Given the description of an element on the screen output the (x, y) to click on. 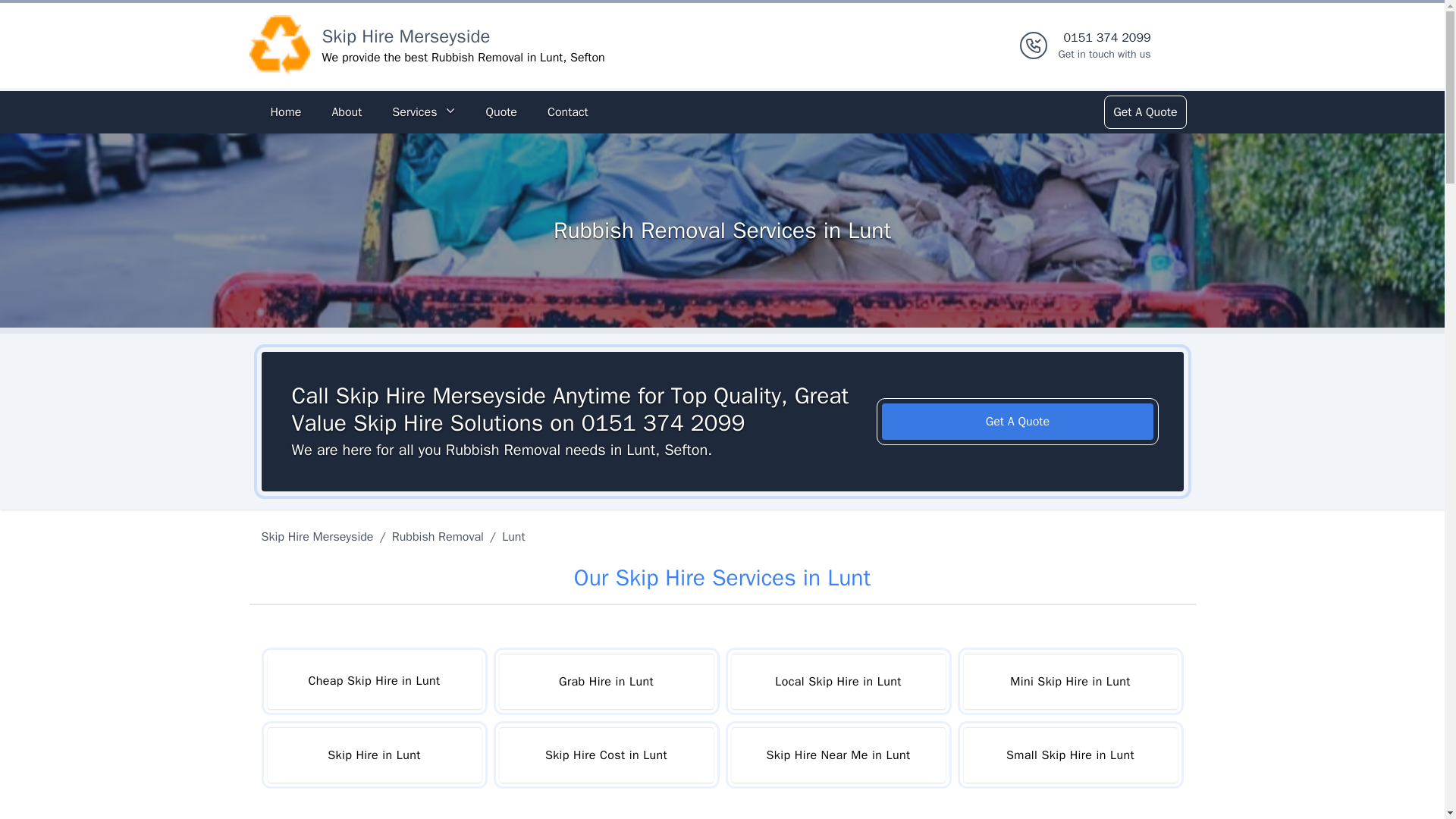
Grab Hire in Lunt (606, 681)
Cheap Skip Hire in Lunt (373, 681)
Skip Hire Merseyside (319, 536)
About (346, 112)
Contact (567, 112)
Services (423, 112)
Local Skip Hire in Lunt (837, 681)
Rubbish Removal (437, 536)
Mini Skip Hire in Lunt (1069, 681)
Skip Hire Cost in Lunt (606, 754)
Quote (500, 112)
Skip Hire Merseyside (405, 36)
Skip Hire in Lunt (373, 754)
Small Skip Hire in Lunt (1104, 45)
